Given the description of an element on the screen output the (x, y) to click on. 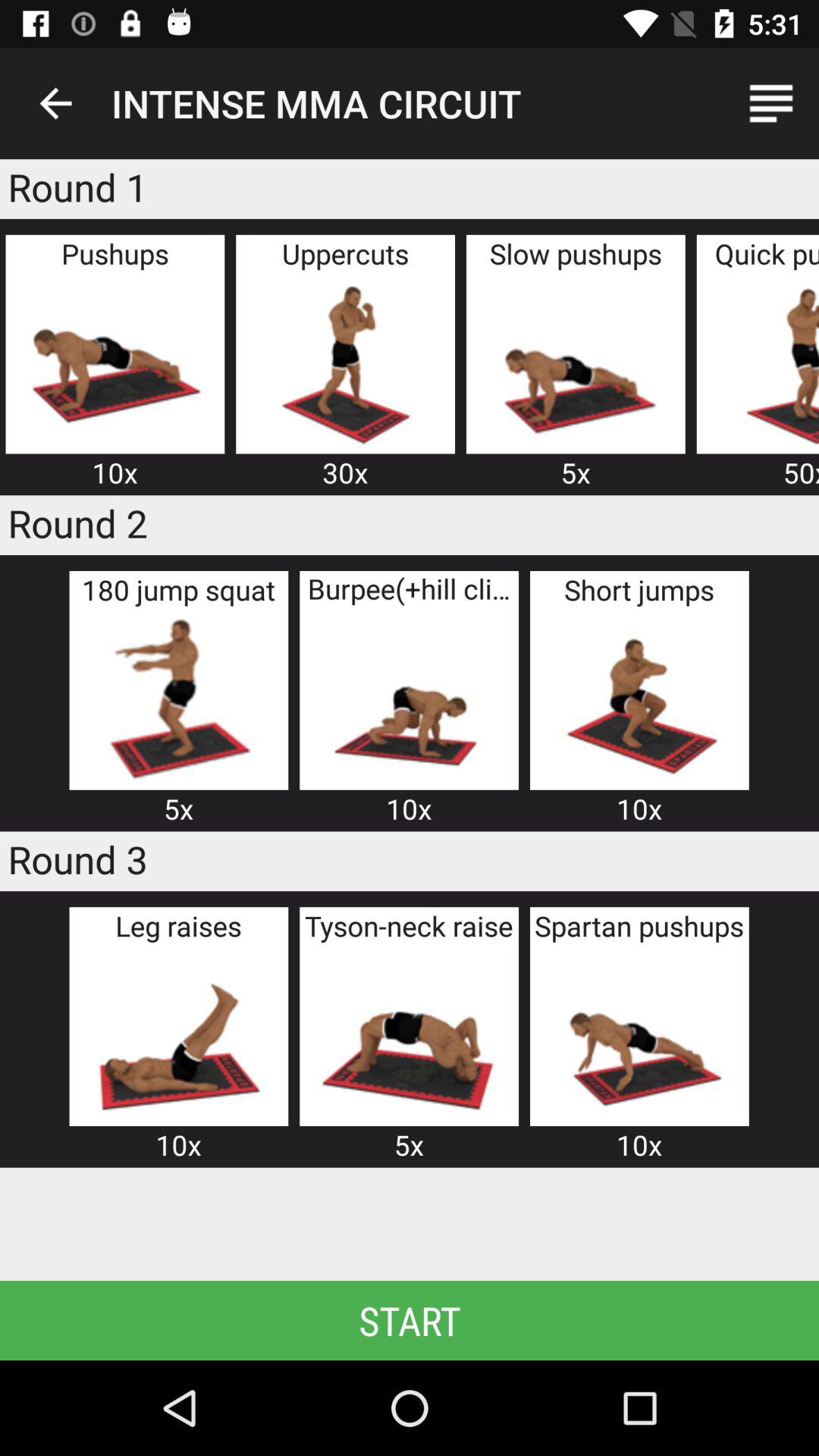
advertisement (638, 1034)
